Given the description of an element on the screen output the (x, y) to click on. 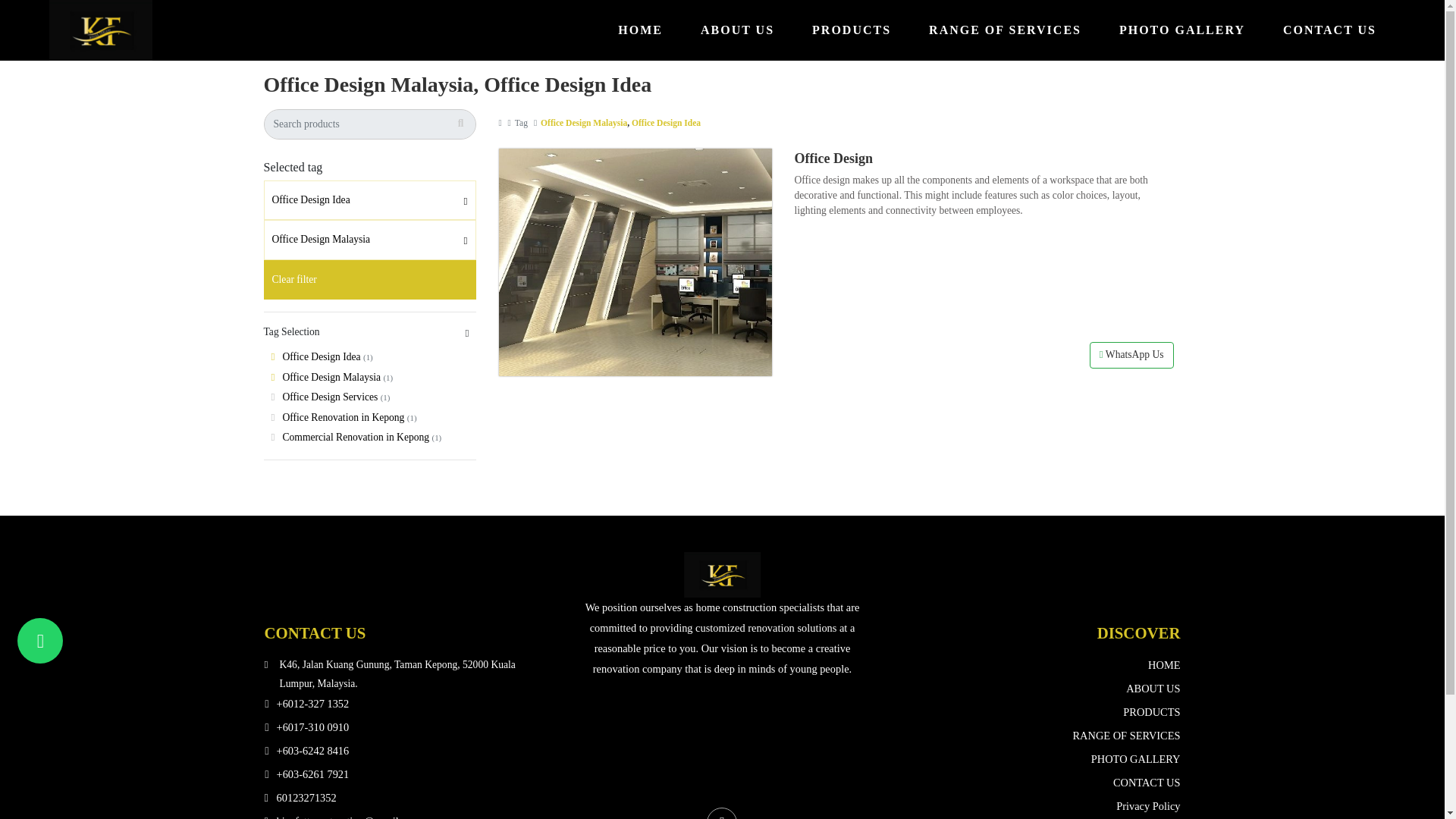
Tag (522, 122)
RANGE OF SERVICES (1004, 29)
 WhatsApp Us (1131, 354)
Office Design Idea (369, 200)
CONTACT US (1328, 29)
Office Design Malaysia (369, 239)
RANGE OF SERVICES (1004, 29)
Office Design Malaysia (583, 122)
ABOUT US (737, 29)
Office Design (833, 158)
